Given the description of an element on the screen output the (x, y) to click on. 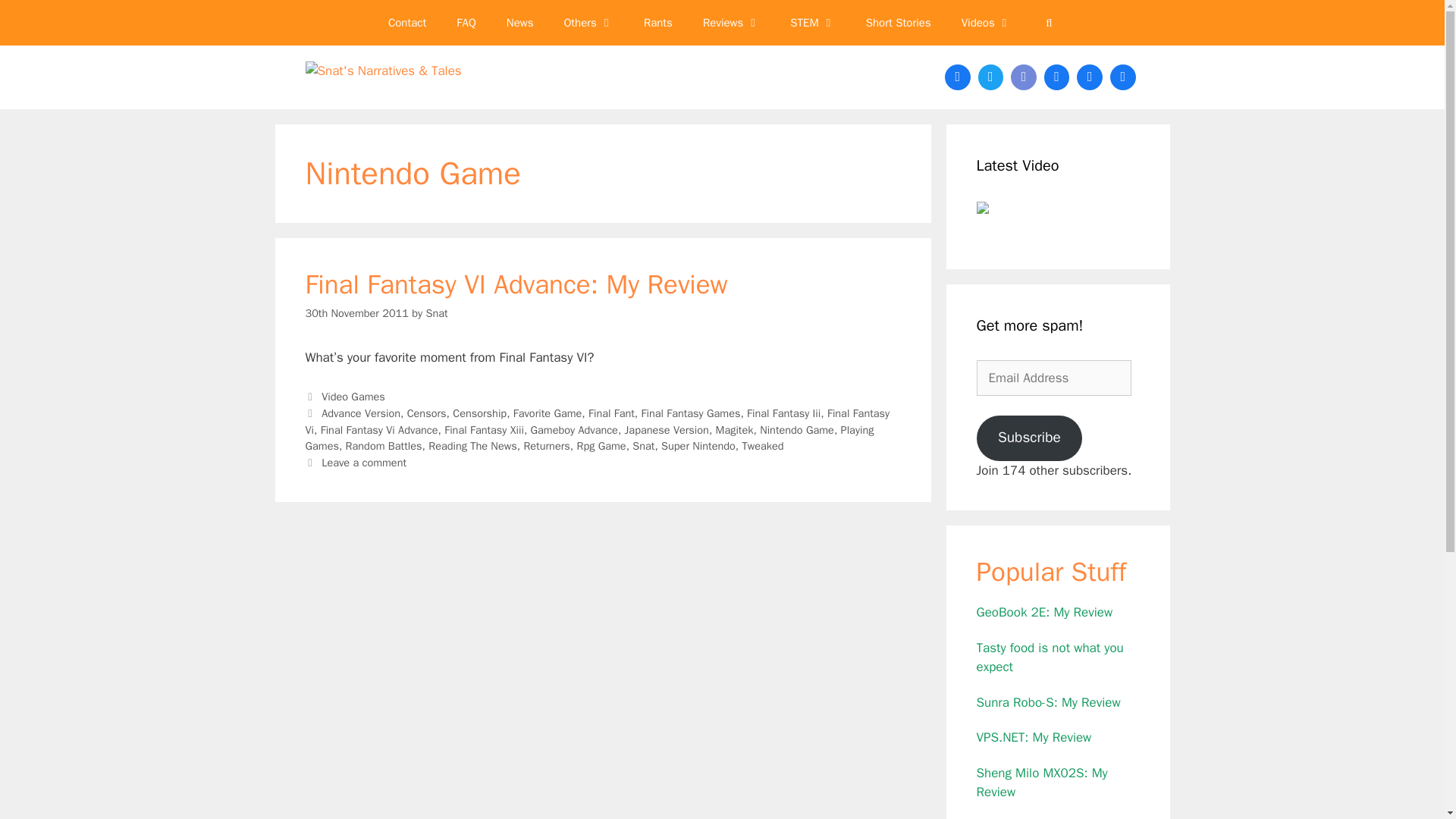
Videos (986, 22)
Others (587, 22)
FAQ (465, 22)
Advance Version (360, 413)
Steam (1057, 77)
STEM (812, 22)
Reviews (730, 22)
Rants (657, 22)
Github (1089, 77)
View all posts by Snat (435, 313)
Favorite Game (547, 413)
News (520, 22)
Censors (426, 413)
Discord (1024, 77)
Twitter (990, 77)
